Given the description of an element on the screen output the (x, y) to click on. 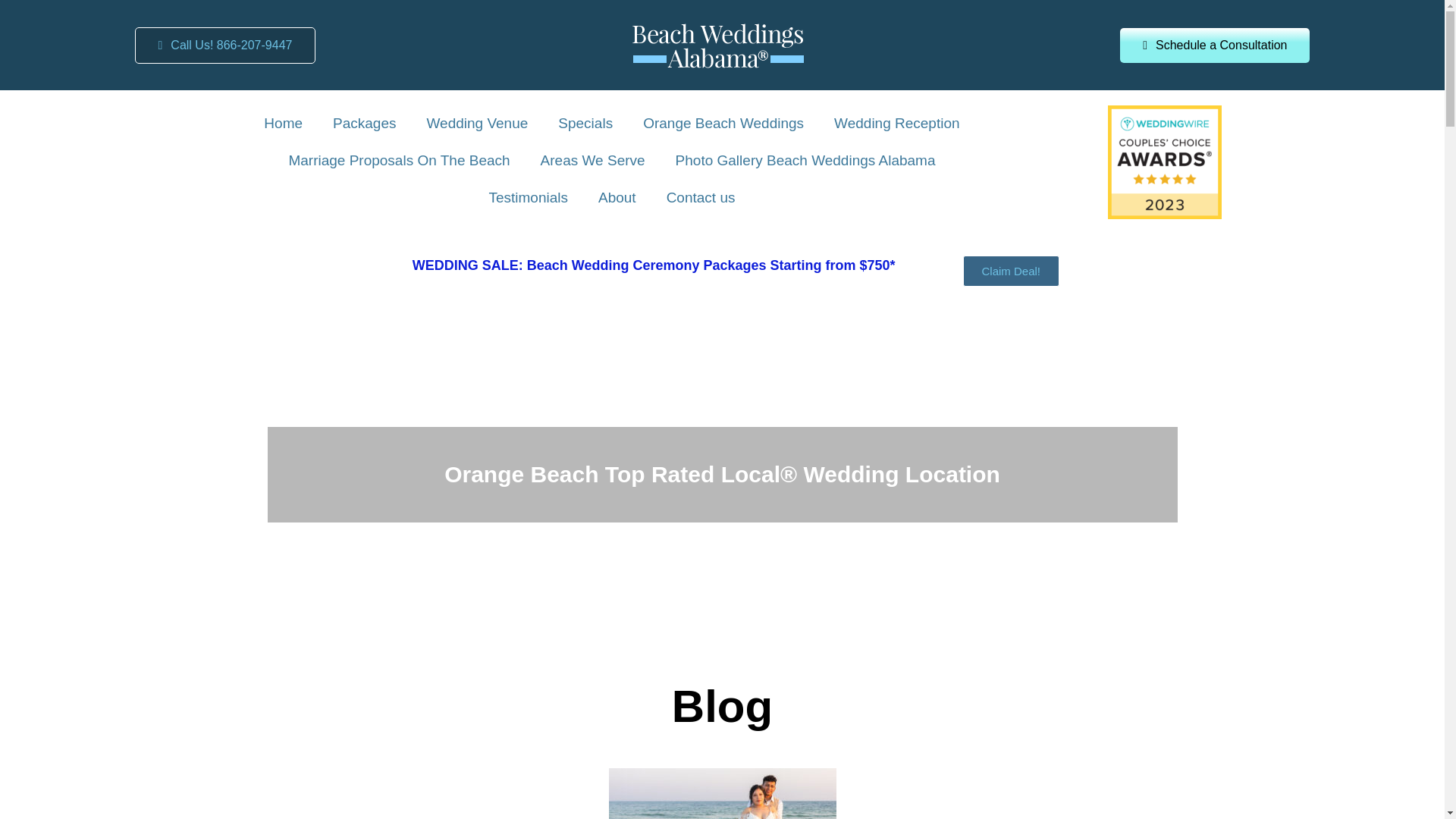
Call Us! 866-207-9447 (225, 45)
Areas We Serve (593, 160)
Marriage Proposals On The Beach (398, 160)
Packages (363, 123)
Testimonials (528, 198)
Photo Gallery Beach Weddings Alabama (805, 160)
Specials (585, 123)
Orange Beach Weddings (722, 123)
About (616, 198)
Contact us (700, 198)
